Given the description of an element on the screen output the (x, y) to click on. 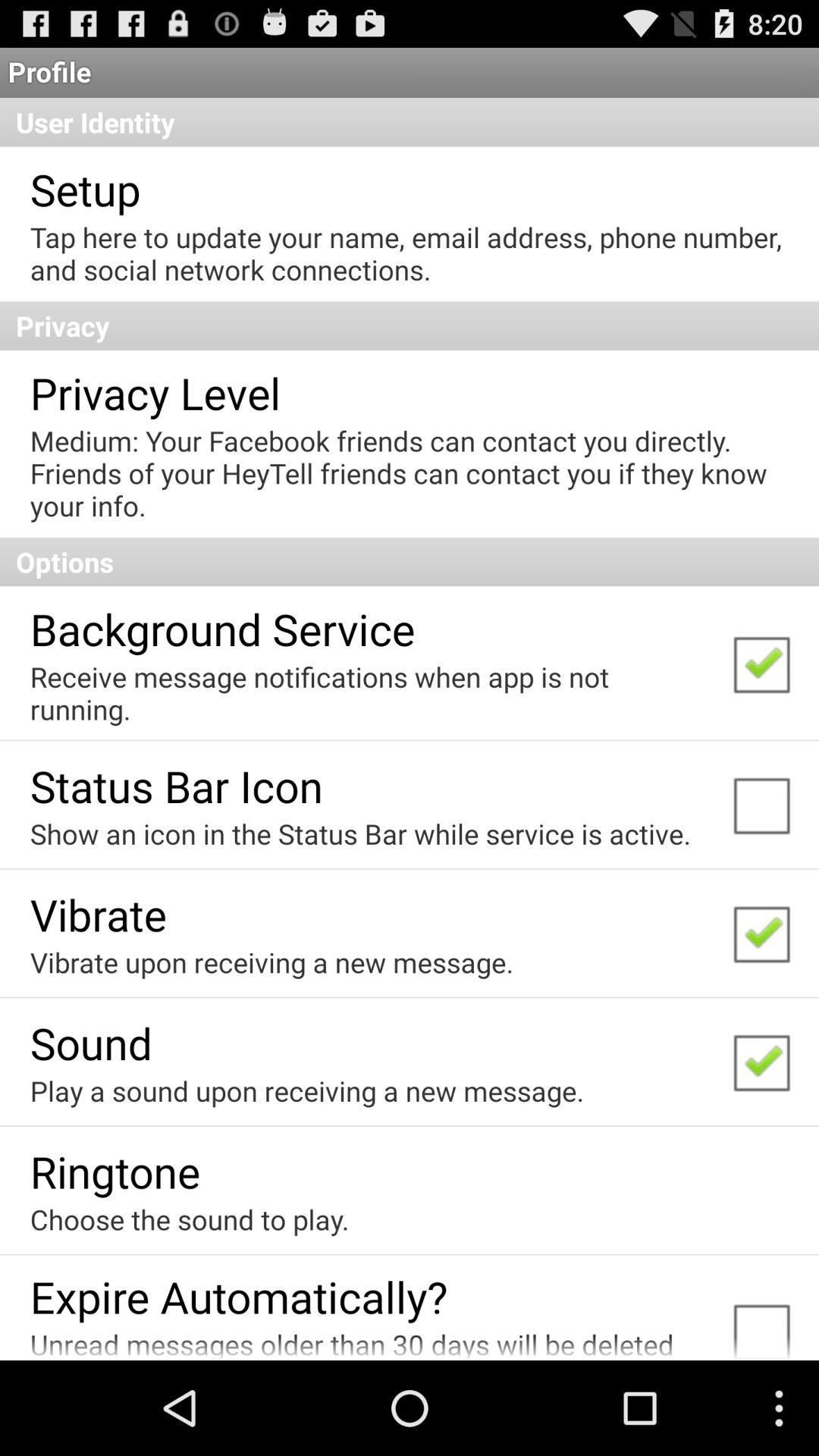
choose ringtone (115, 1171)
